Given the description of an element on the screen output the (x, y) to click on. 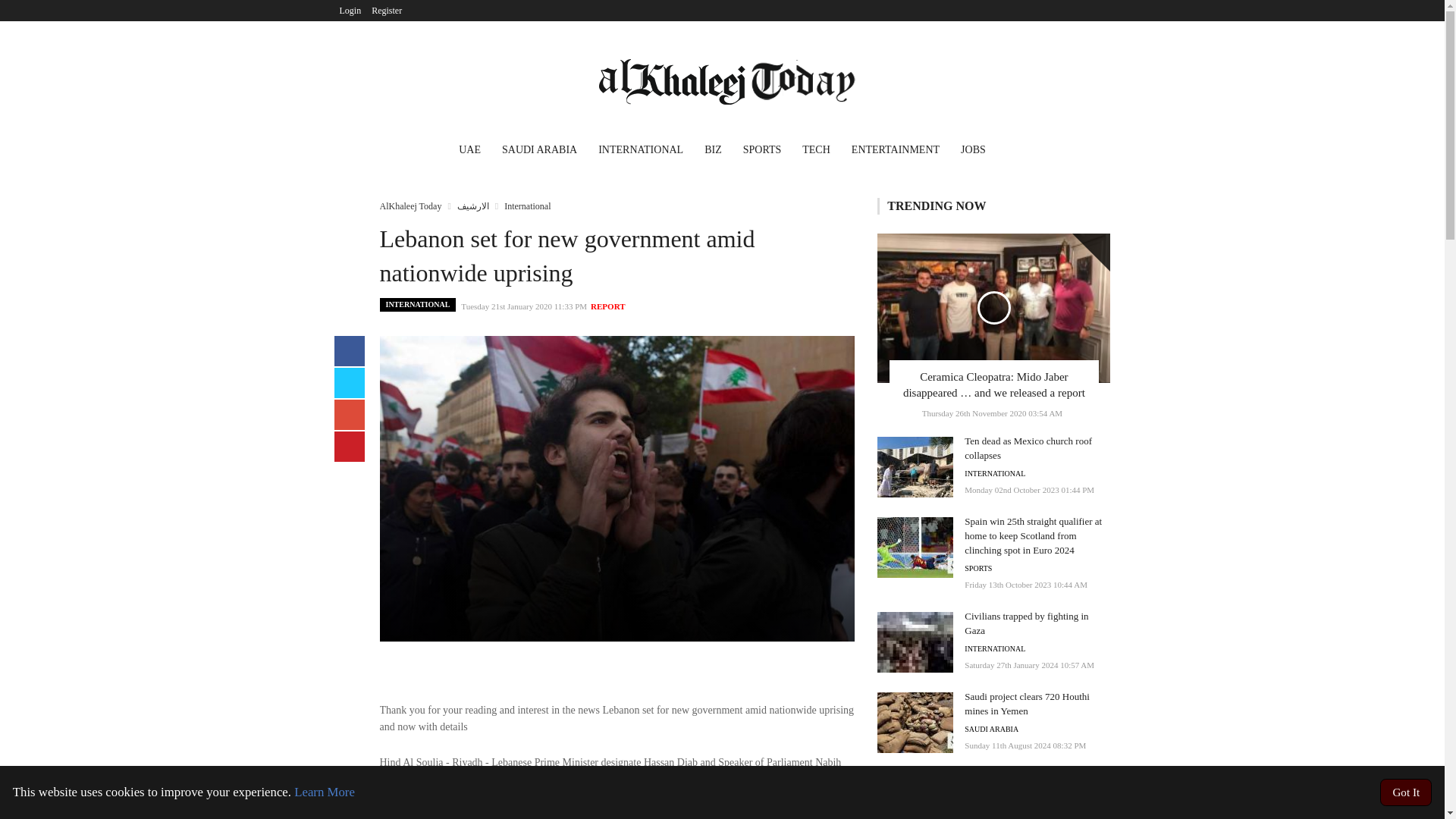
Got It (1405, 791)
SPORTS (762, 151)
Ten dead as Mexico church roof collapses (1027, 447)
INTERNATIONAL (994, 473)
Civilians trapped by fighting in Gaza (1025, 623)
SPORTS (977, 568)
ENTERTAINMENT (895, 151)
Login (349, 10)
Learn More (324, 791)
